Given the description of an element on the screen output the (x, y) to click on. 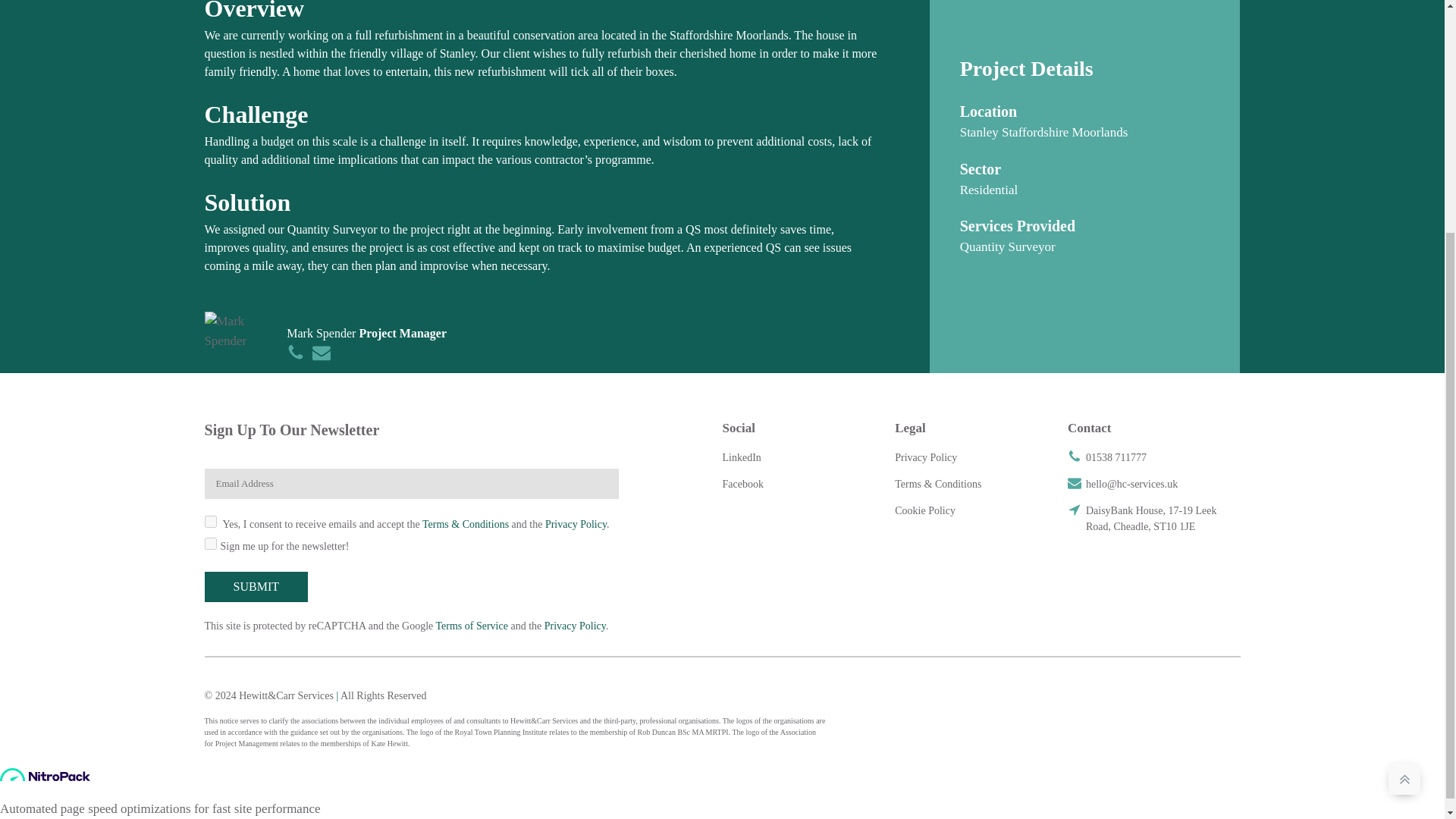
SUBMIT (256, 586)
1 (210, 521)
Privacy Policy (574, 625)
Terms of Service (470, 625)
Privacy Policy (575, 523)
LinkedIn (741, 462)
1 (210, 543)
SUBMIT (256, 586)
